Given the description of an element on the screen output the (x, y) to click on. 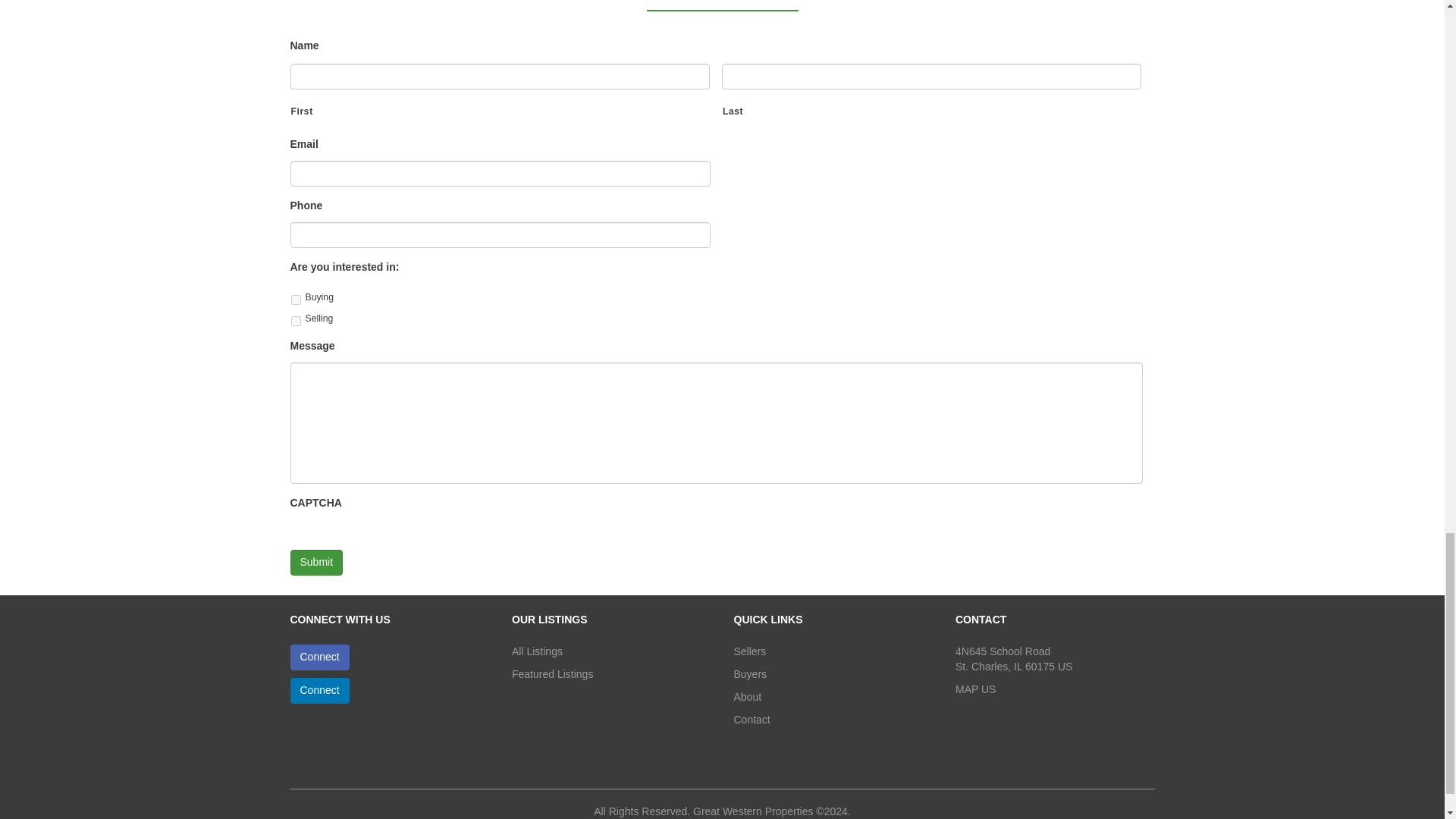
Submit (315, 562)
Buying (296, 299)
Selling (296, 320)
